Given the description of an element on the screen output the (x, y) to click on. 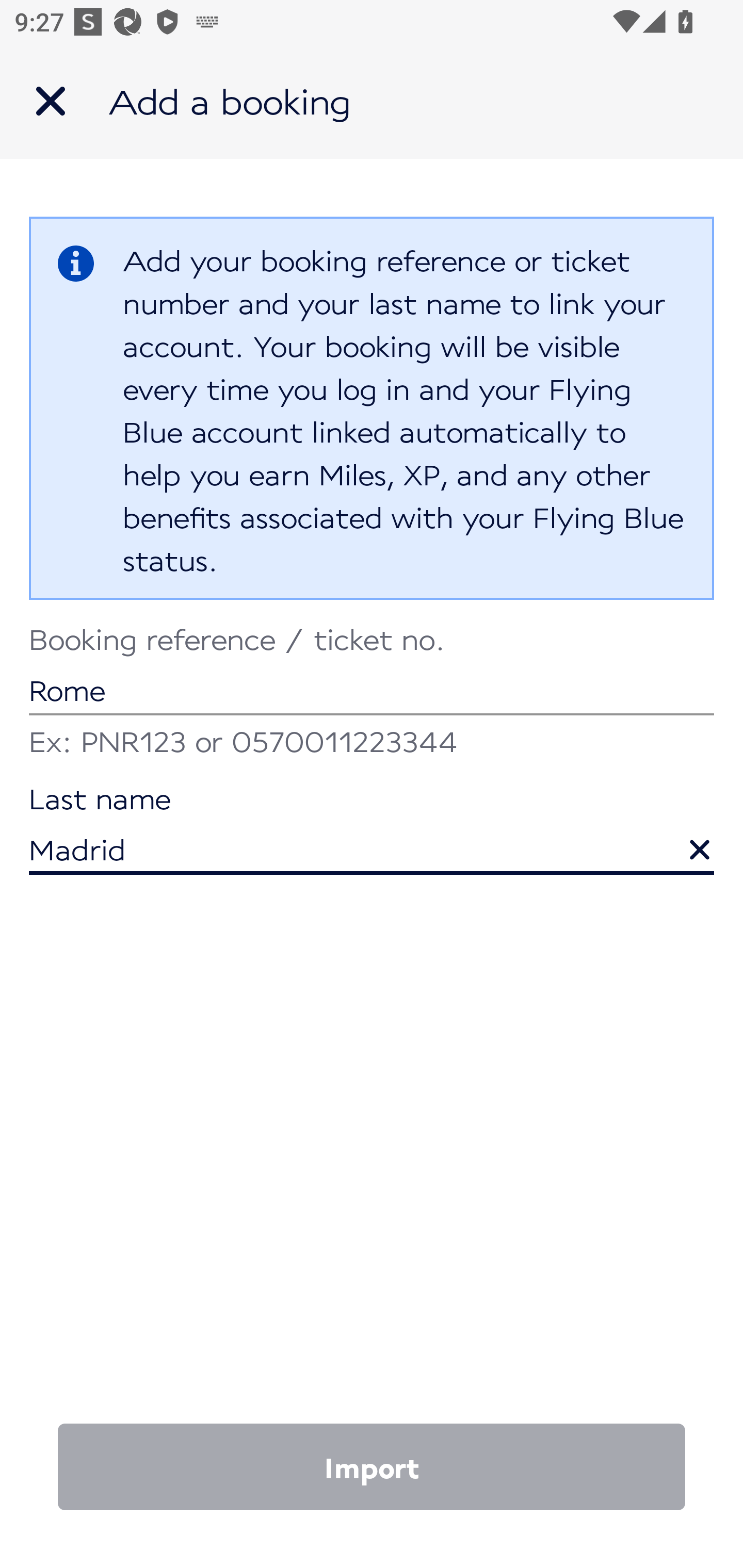
Rome Ex: PNR123 or 0570011223344 (371, 693)
Rome (371, 671)
Madrid Clear text (371, 831)
Clear text (685, 839)
Import (371, 1466)
